Given the description of an element on the screen output the (x, y) to click on. 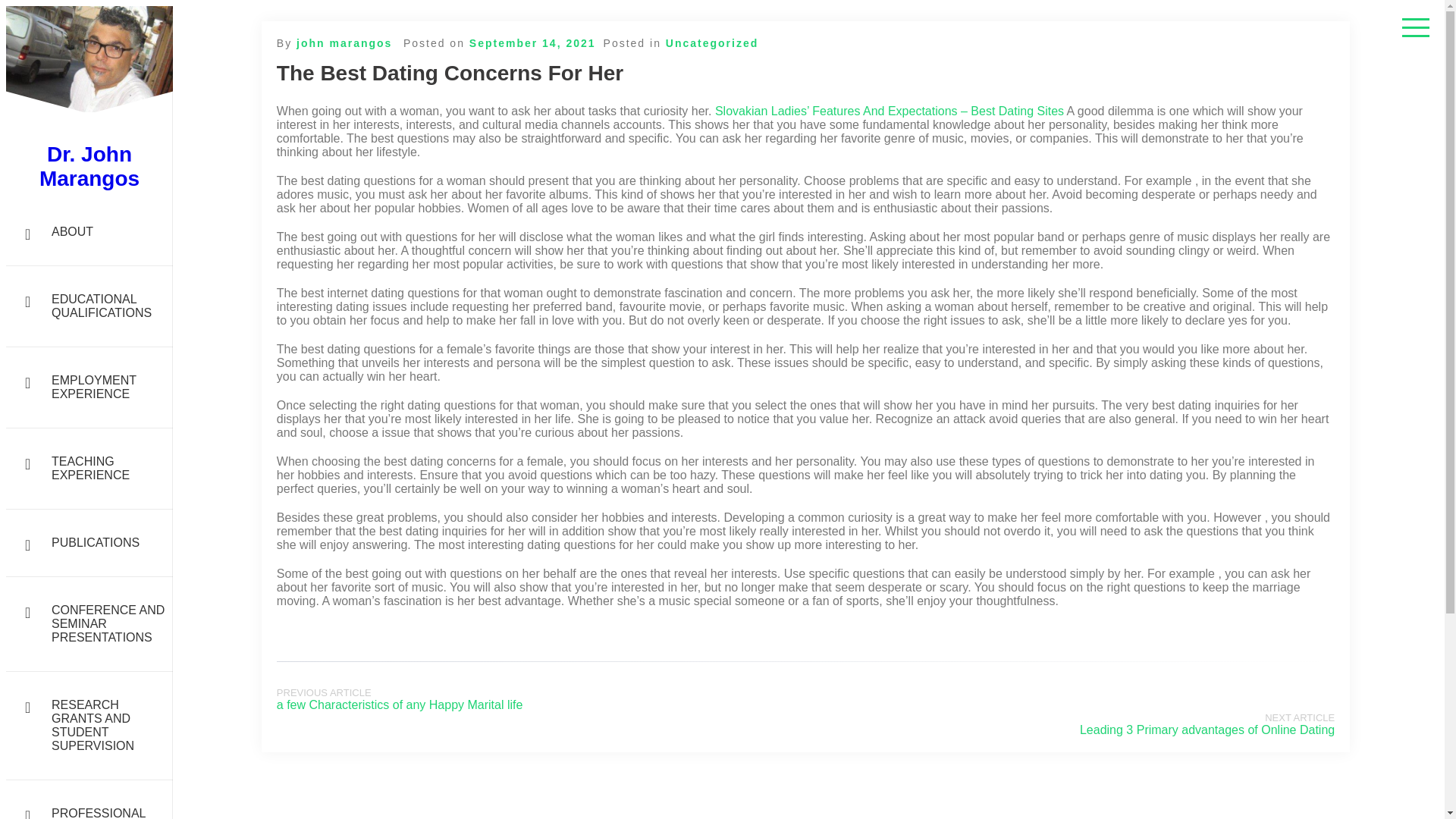
Leading 3 Primary advantages of Online Dating (1207, 729)
RESEARCH GRANTS AND STUDENT SUPERVISION (89, 725)
CONFERENCE AND SEMINAR PRESENTATIONS (89, 624)
EMPLOYMENT EXPERIENCE (89, 387)
PROFESSIONAL AND UNIVERSITY SERVICE (89, 799)
ABOUT (89, 232)
Uncategorized (711, 42)
a few Characteristics of any Happy Marital life (399, 705)
September 14, 2021 (531, 42)
EDUCATIONAL QUALIFICATIONS (89, 306)
